Given the description of an element on the screen output the (x, y) to click on. 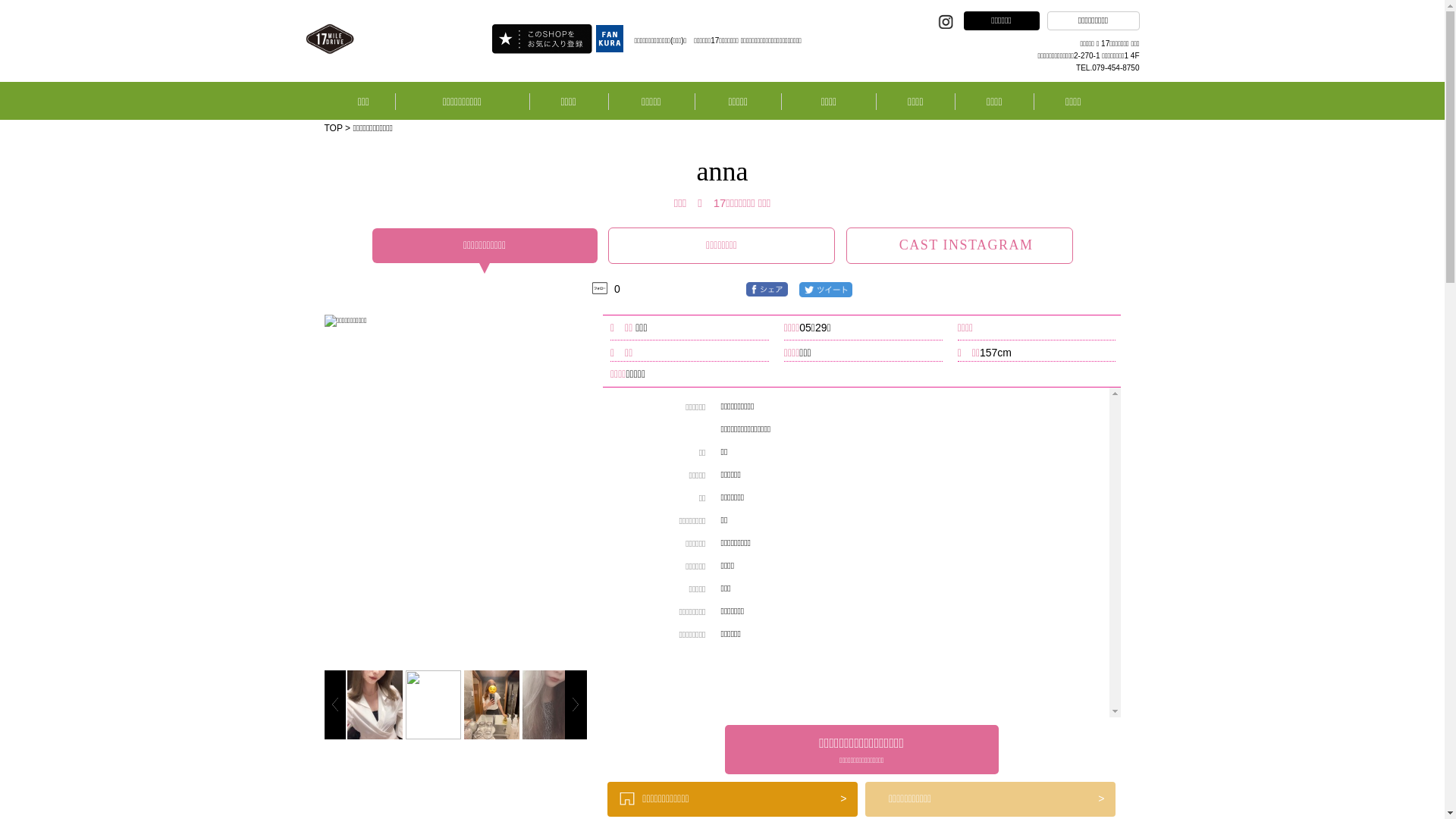
CAST INSTAGRAM Element type: text (959, 245)
TOP Element type: text (333, 127)
